Given the description of an element on the screen output the (x, y) to click on. 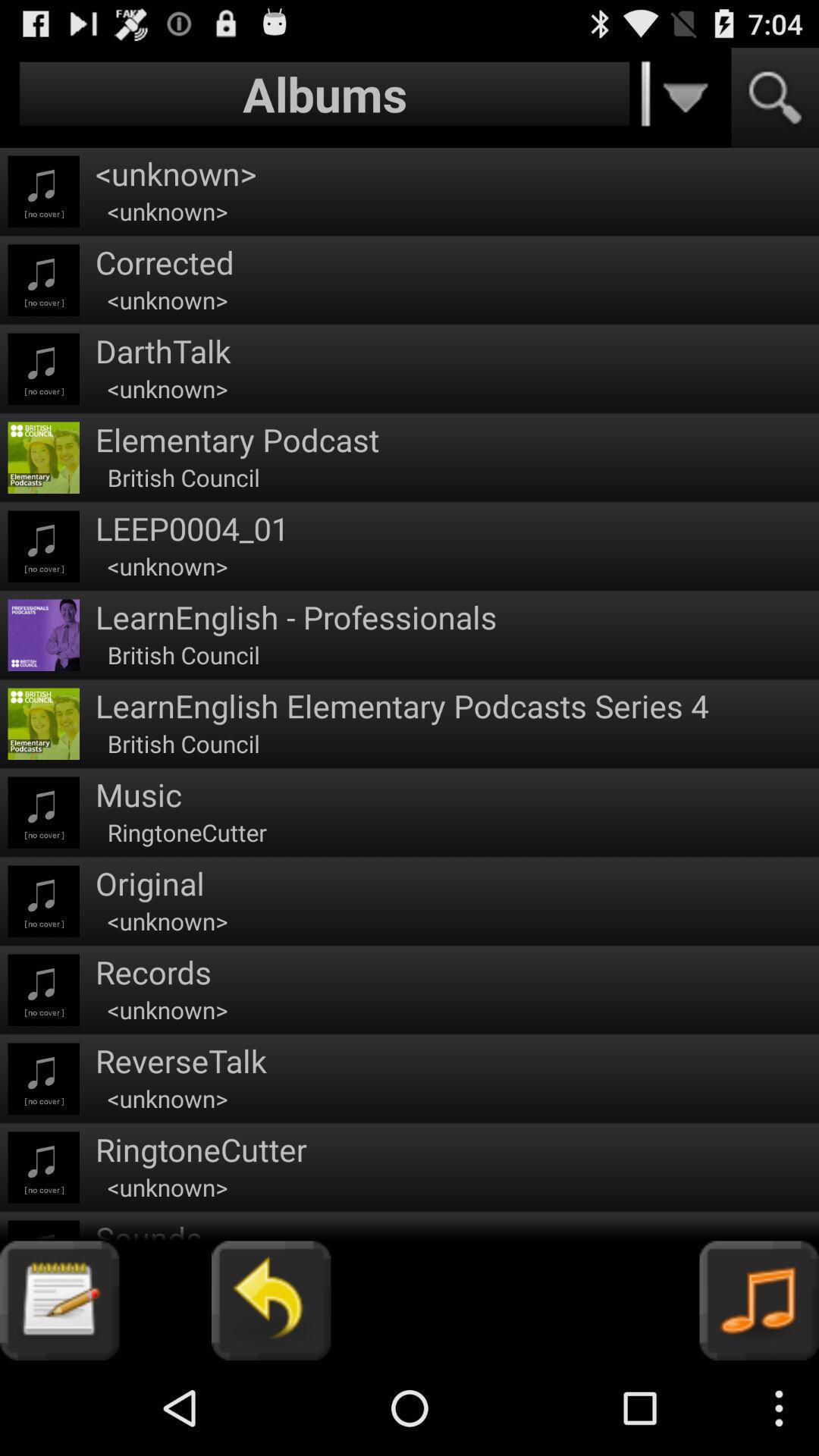
select music icon (759, 1300)
select third music icon from bottom (43, 989)
select the icon which is beside ringtonecutter (43, 1166)
click on the music icon which is to the left of corrected (43, 280)
